Given the description of an element on the screen output the (x, y) to click on. 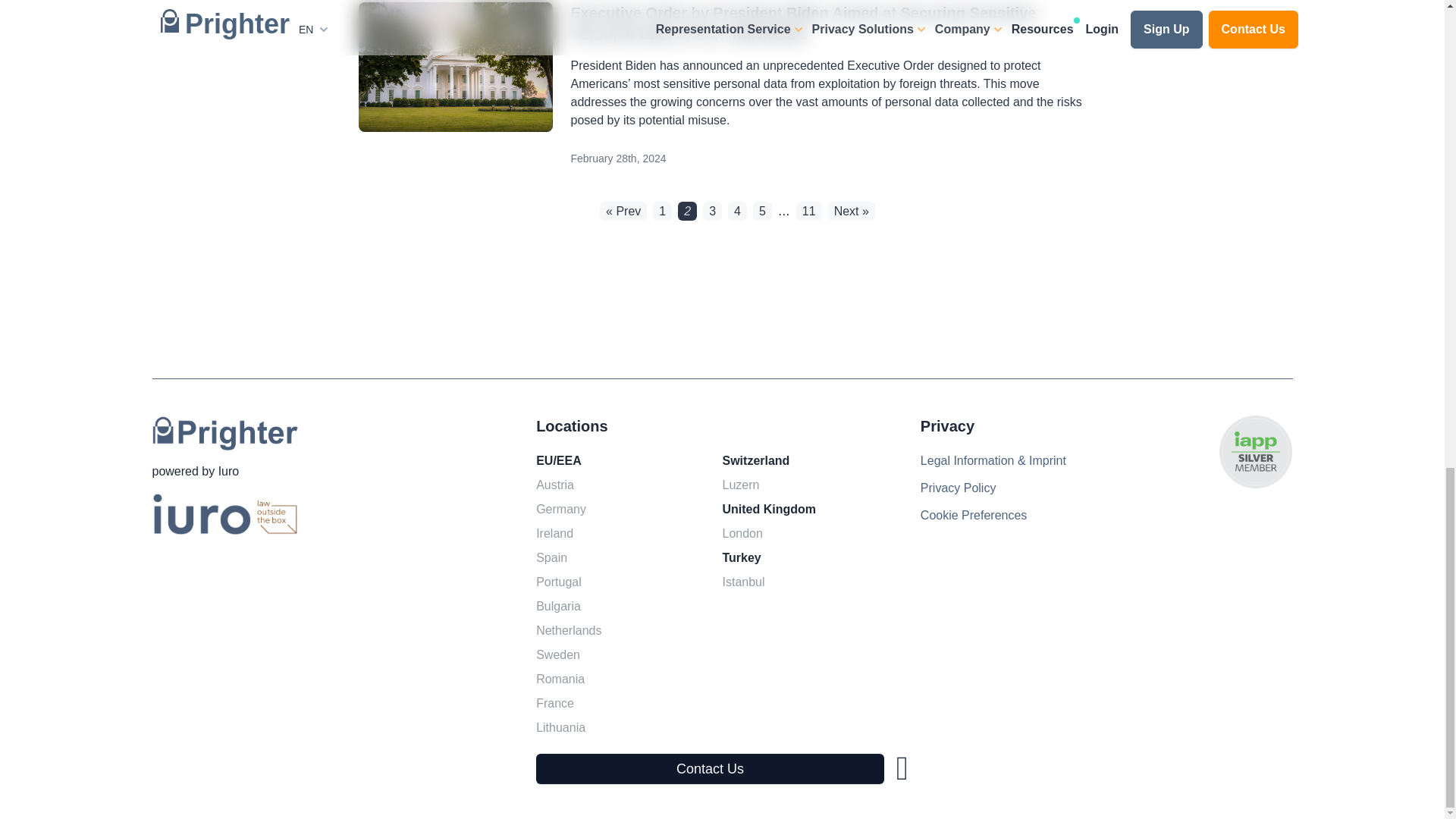
Lithuania (560, 727)
Spain (551, 558)
5 (761, 210)
Bulgaria (558, 606)
Netherlands (568, 630)
1 (661, 210)
Sweden (558, 654)
Ireland (554, 533)
Austria (555, 485)
Germany (561, 509)
11 (809, 210)
4 (737, 210)
France (555, 703)
Prighter Linkedin Profile (902, 768)
Romania (560, 679)
